Given the description of an element on the screen output the (x, y) to click on. 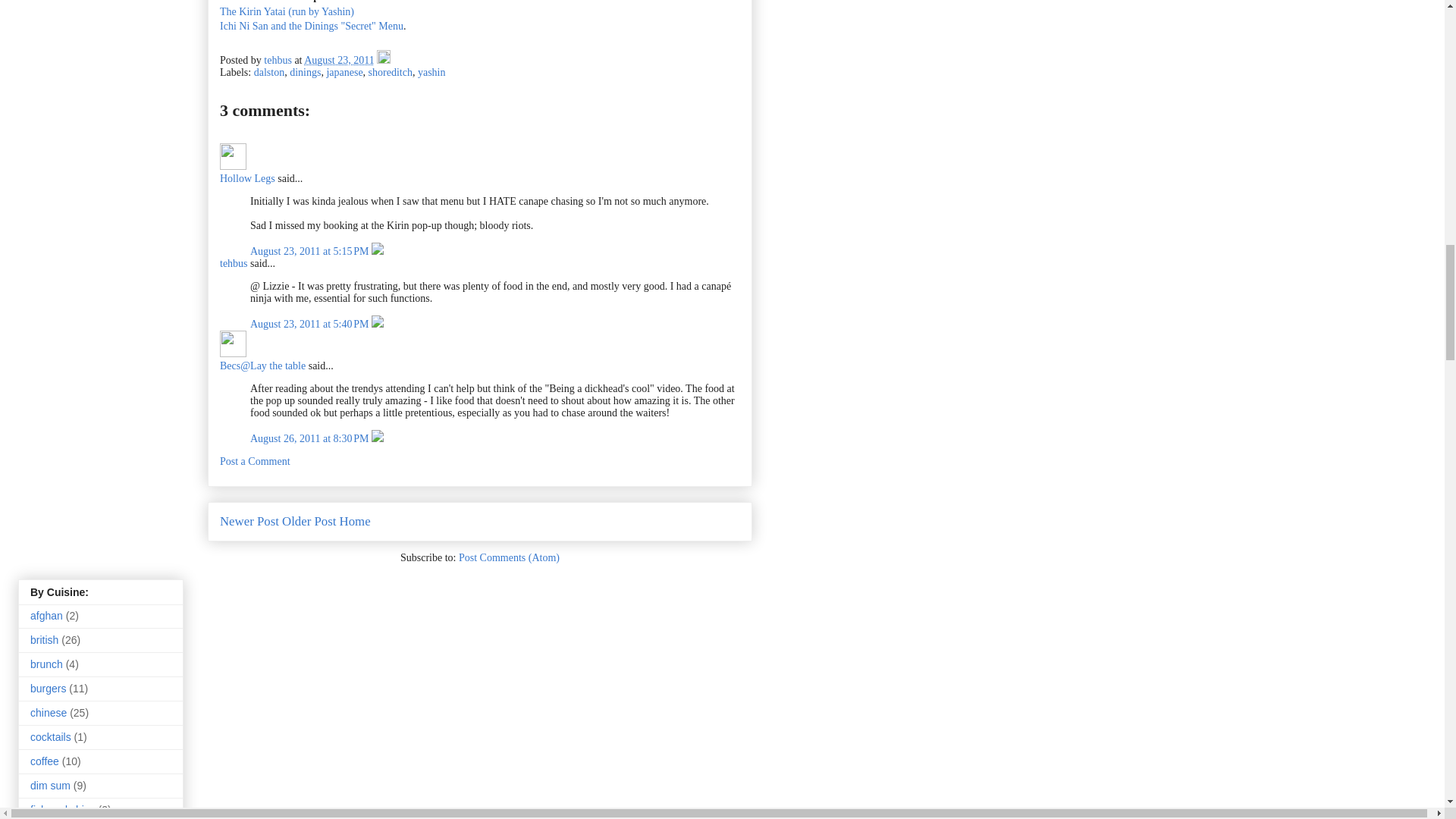
August 23, 2011 (339, 60)
comment permalink (310, 251)
Hollow Legs (247, 178)
shoreditch (390, 71)
Hollow Legs (232, 156)
Edit Post (383, 60)
dalston (268, 71)
dinings (304, 71)
tehbus (278, 60)
permanent link (339, 60)
author profile (278, 60)
yashin (431, 71)
Ichi Ni San and the Dinings "Secret" Menu (311, 25)
